Given the description of an element on the screen output the (x, y) to click on. 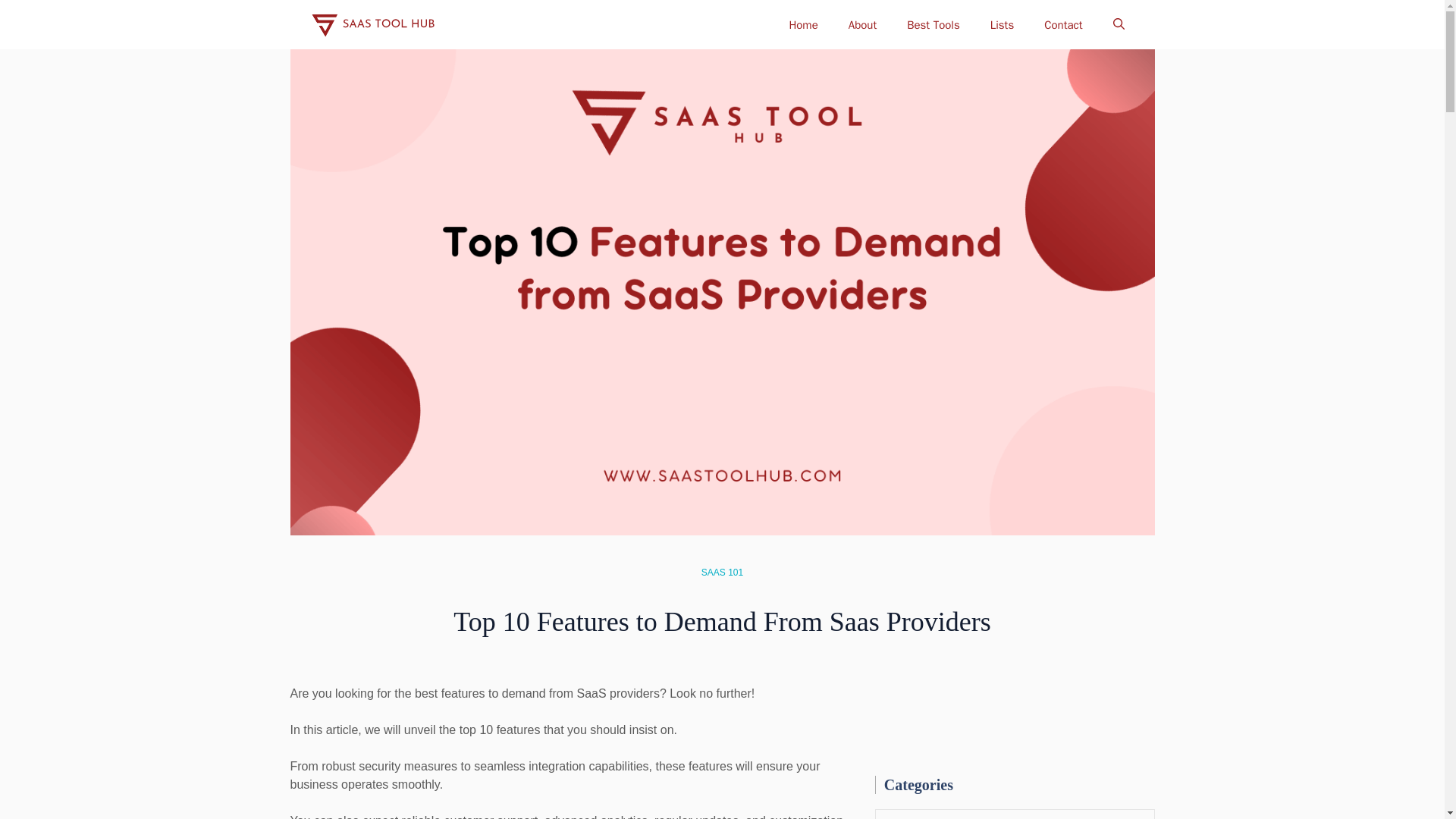
Best Tools (933, 23)
SAAS 101 (721, 572)
Advanced Aspects of SaaS (1014, 814)
SaaS Tool Hub (372, 24)
About (861, 23)
Contact (1063, 23)
Lists (1002, 23)
Home (802, 23)
